Given the description of an element on the screen output the (x, y) to click on. 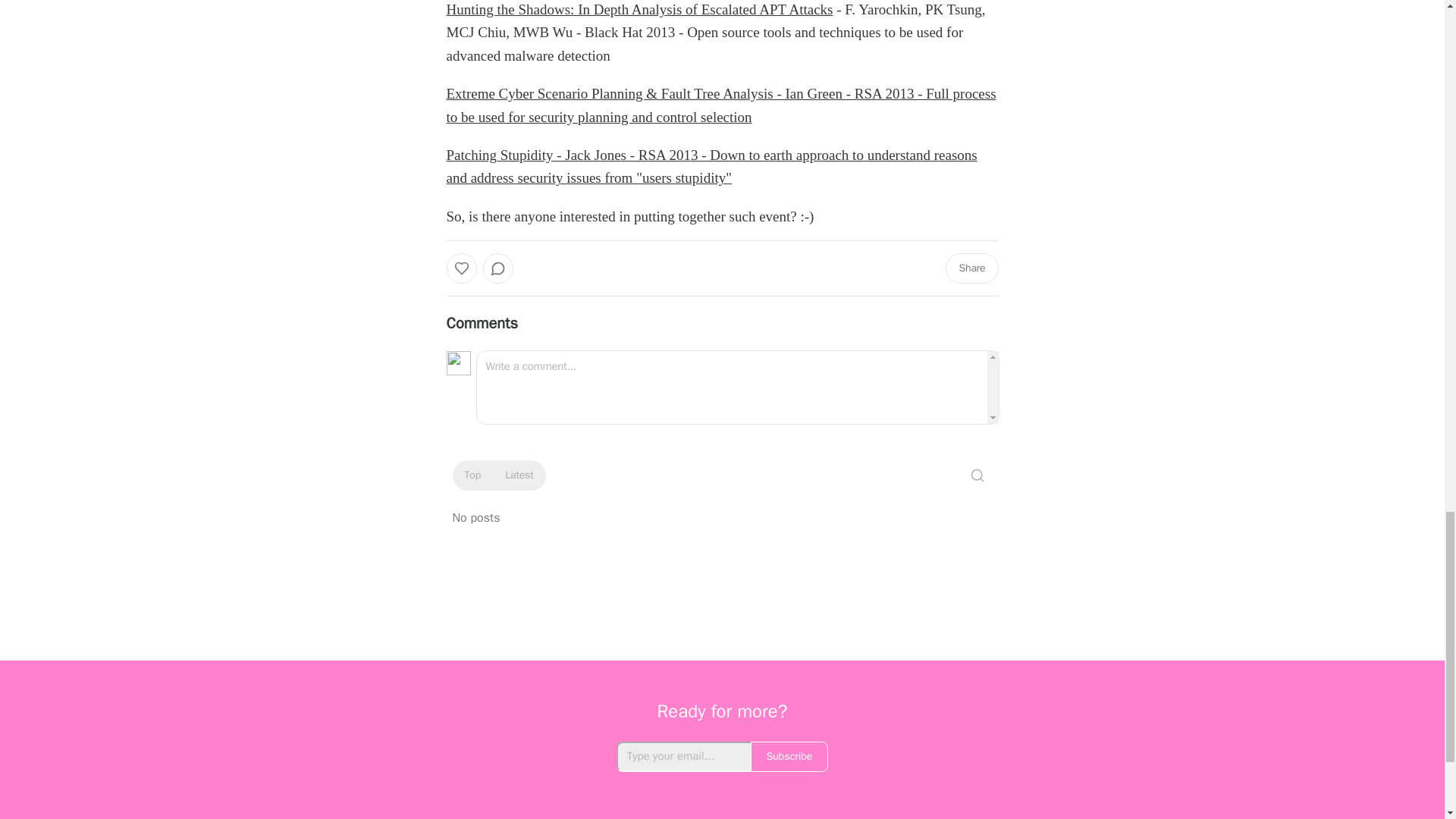
Top (471, 475)
Share (970, 268)
Latest (518, 475)
